Given the description of an element on the screen output the (x, y) to click on. 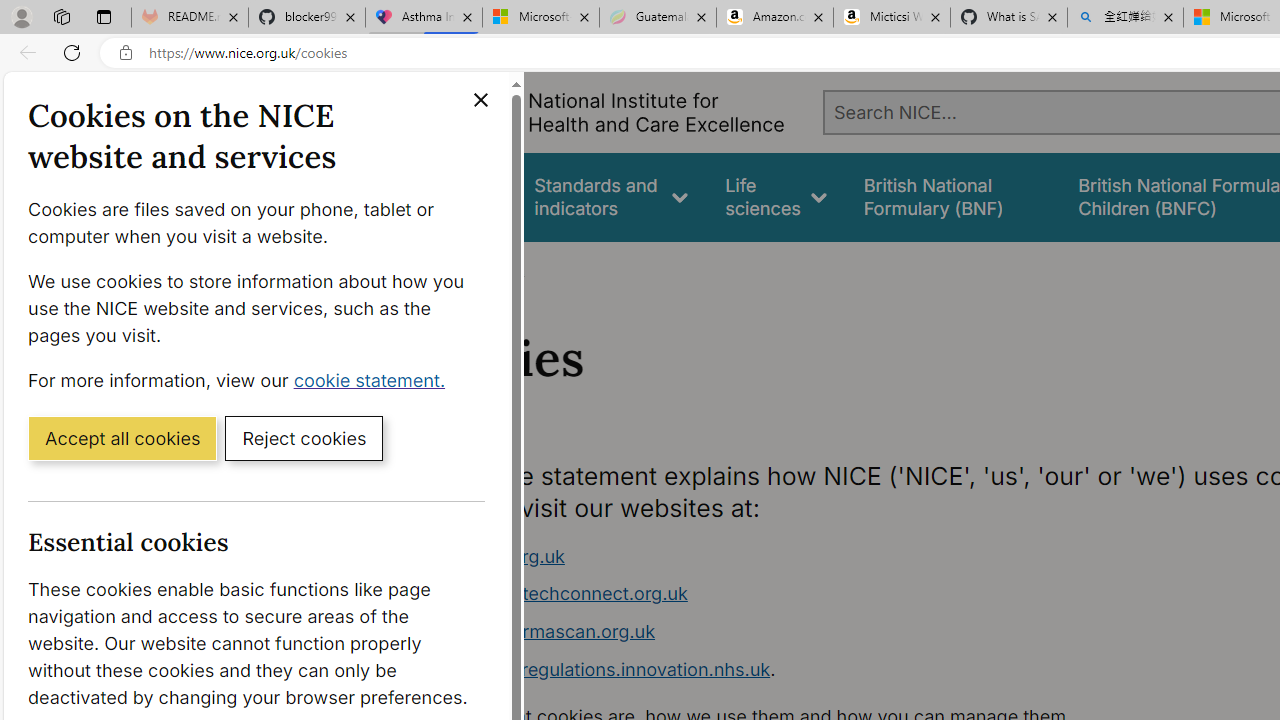
Close cookie banner (480, 99)
Asthma Inhalers: Names and Types (424, 17)
Reject cookies (304, 437)
Life sciences (776, 196)
Guidance (458, 196)
Home> (433, 268)
About (498, 268)
www.ukpharmascan.org.uk (538, 631)
